Given the description of an element on the screen output the (x, y) to click on. 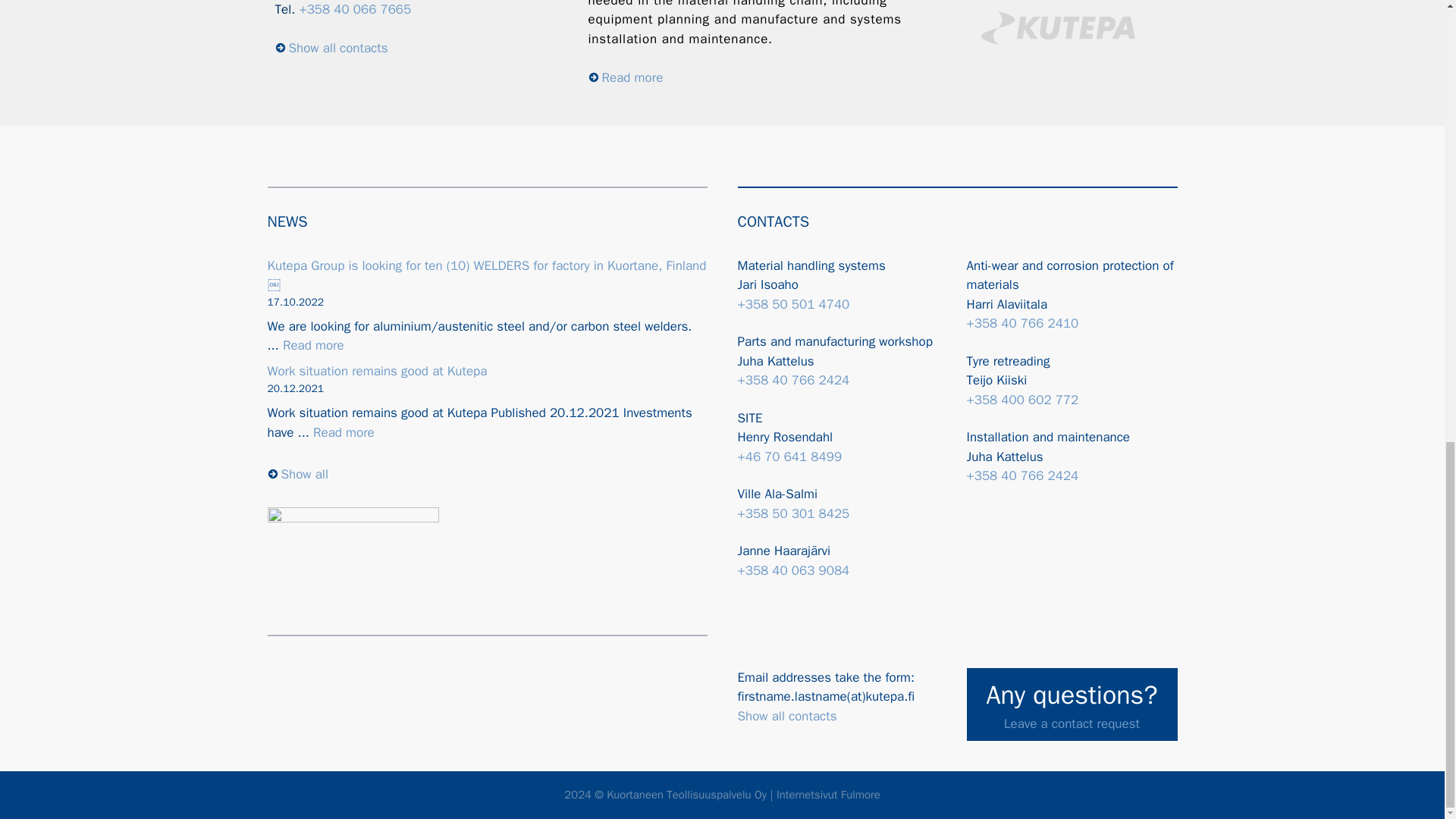
Work situation remains good at Kutepa (376, 371)
Read more (312, 344)
Show all contacts (331, 48)
Show all (296, 474)
Read more (625, 77)
Work situation remains good at Kutepa (343, 432)
Read more (343, 432)
